Given the description of an element on the screen output the (x, y) to click on. 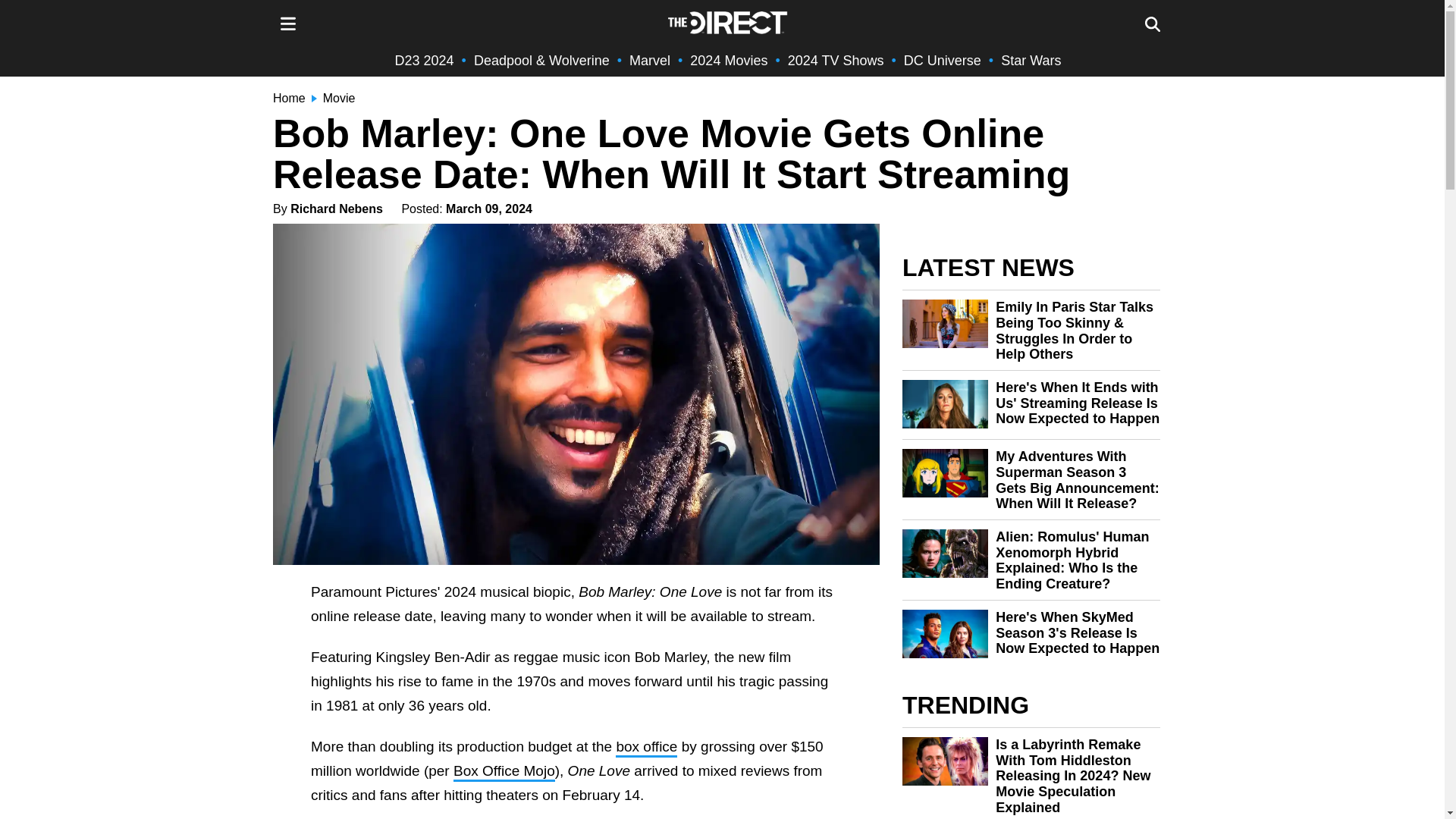
2024 TV Shows (835, 60)
Marvel (648, 60)
D23 2024 (424, 60)
Star Wars (1031, 60)
2024 Movies (728, 60)
DC Universe (942, 60)
